Given the description of an element on the screen output the (x, y) to click on. 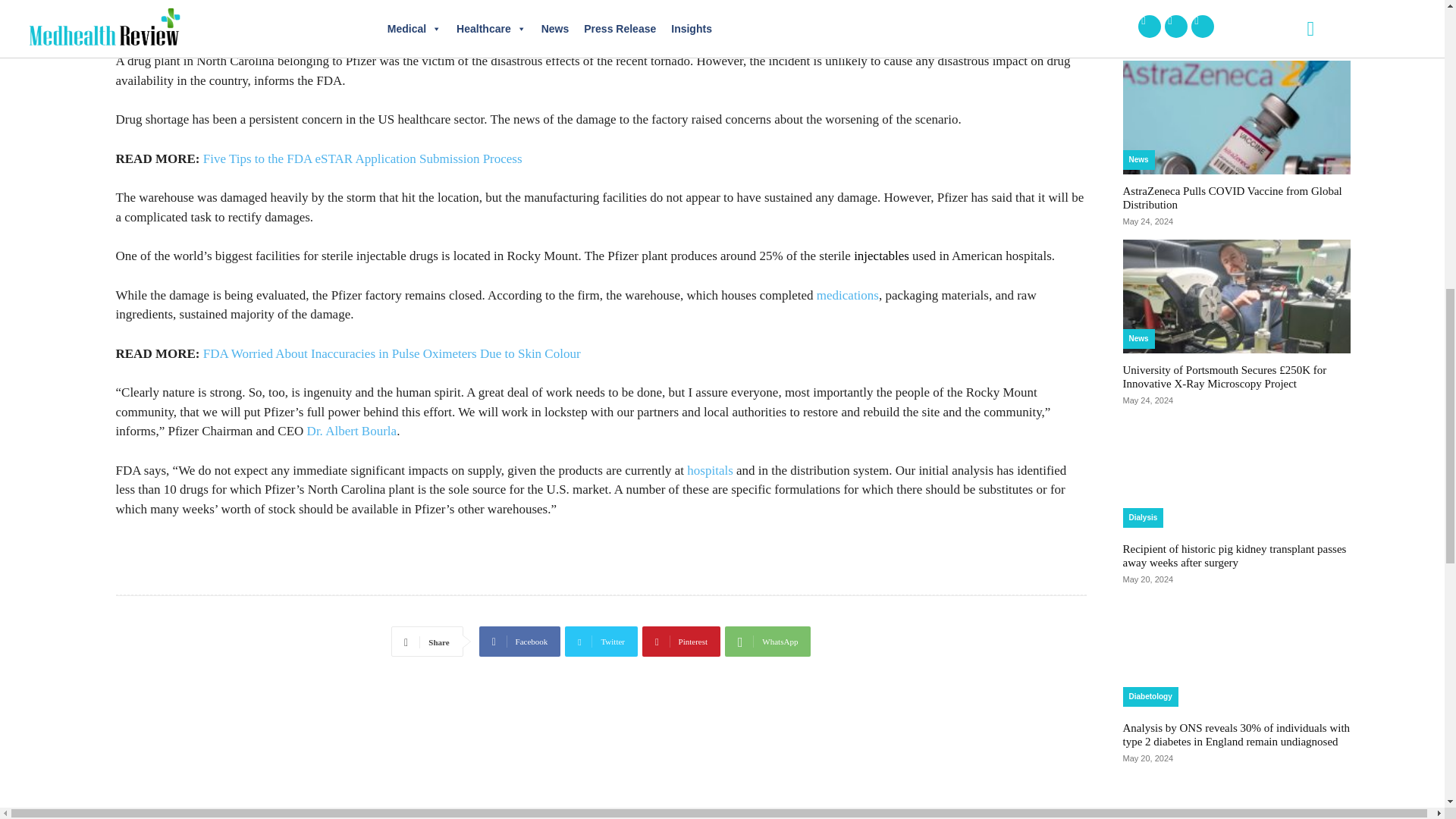
Facebook (519, 641)
WhatsApp (767, 641)
Twitter (600, 641)
Pinterest (681, 641)
